Given the description of an element on the screen output the (x, y) to click on. 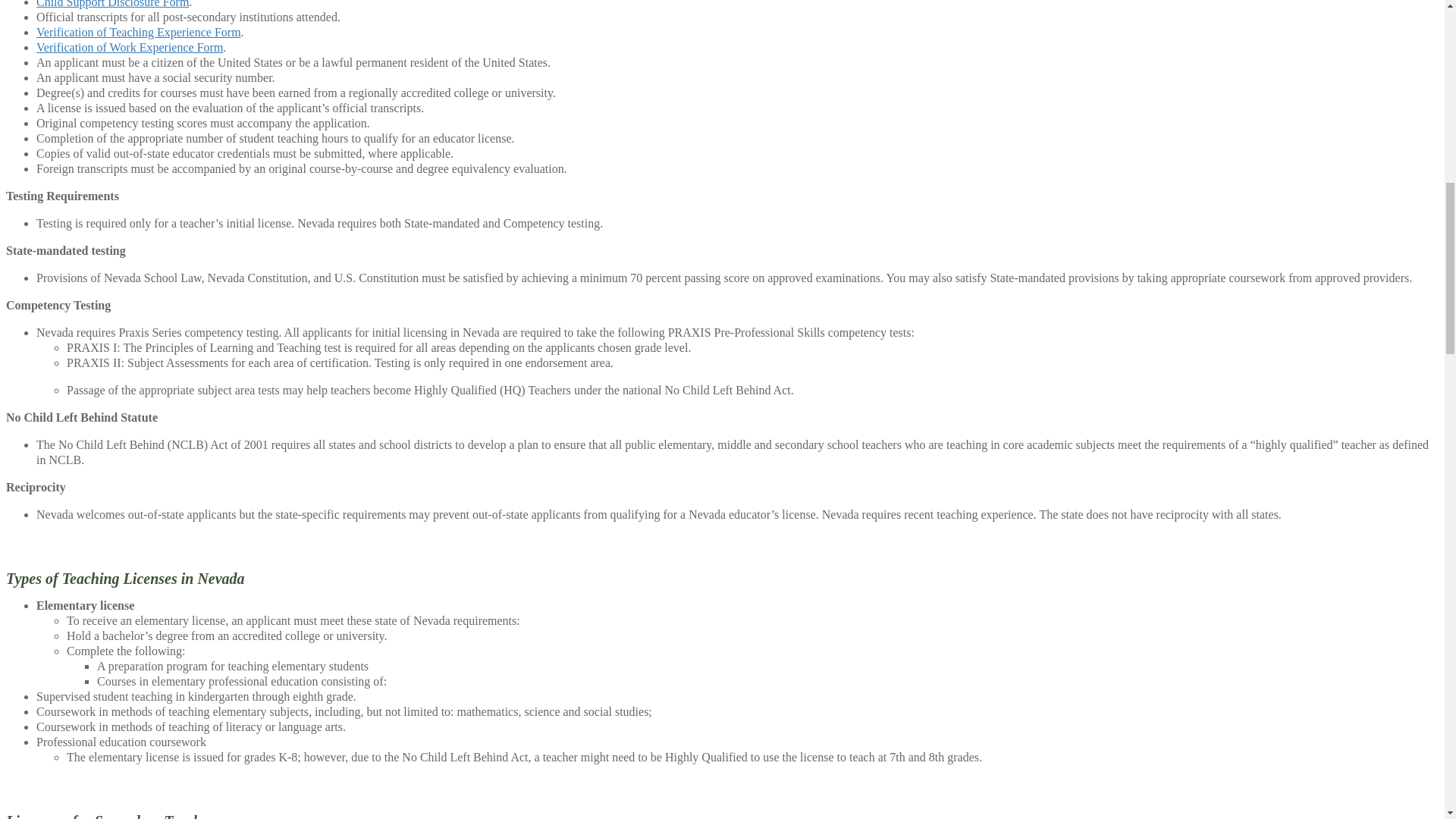
Verification of Work Experience Form (129, 47)
Verification of Teaching Experience Form (138, 31)
Child Support Disclosure Form (112, 4)
